Given the description of an element on the screen output the (x, y) to click on. 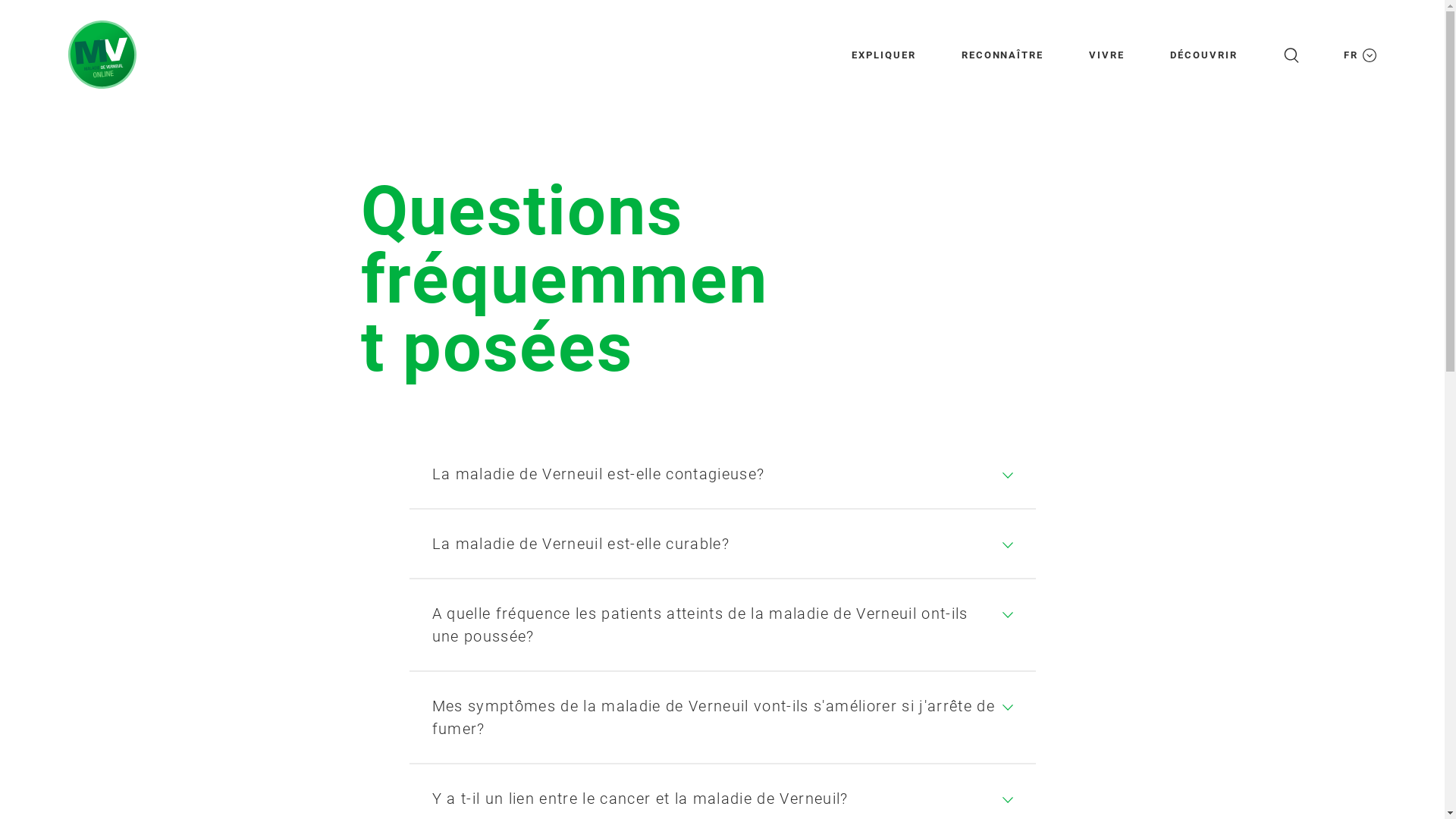
VIVRE Element type: text (1106, 54)
Acneinversa Abbvie Element type: hover (102, 54)
La maladie de Verneuil est-elle curable? Element type: text (714, 543)
FR Element type: text (1357, 54)
La maladie de Verneuil est-elle contagieuse? Element type: text (714, 473)
Y a t-il un lien entre le cancer et la maladie de Verneuil? Element type: text (714, 798)
EXPLIQUER Element type: text (883, 54)
